Given the description of an element on the screen output the (x, y) to click on. 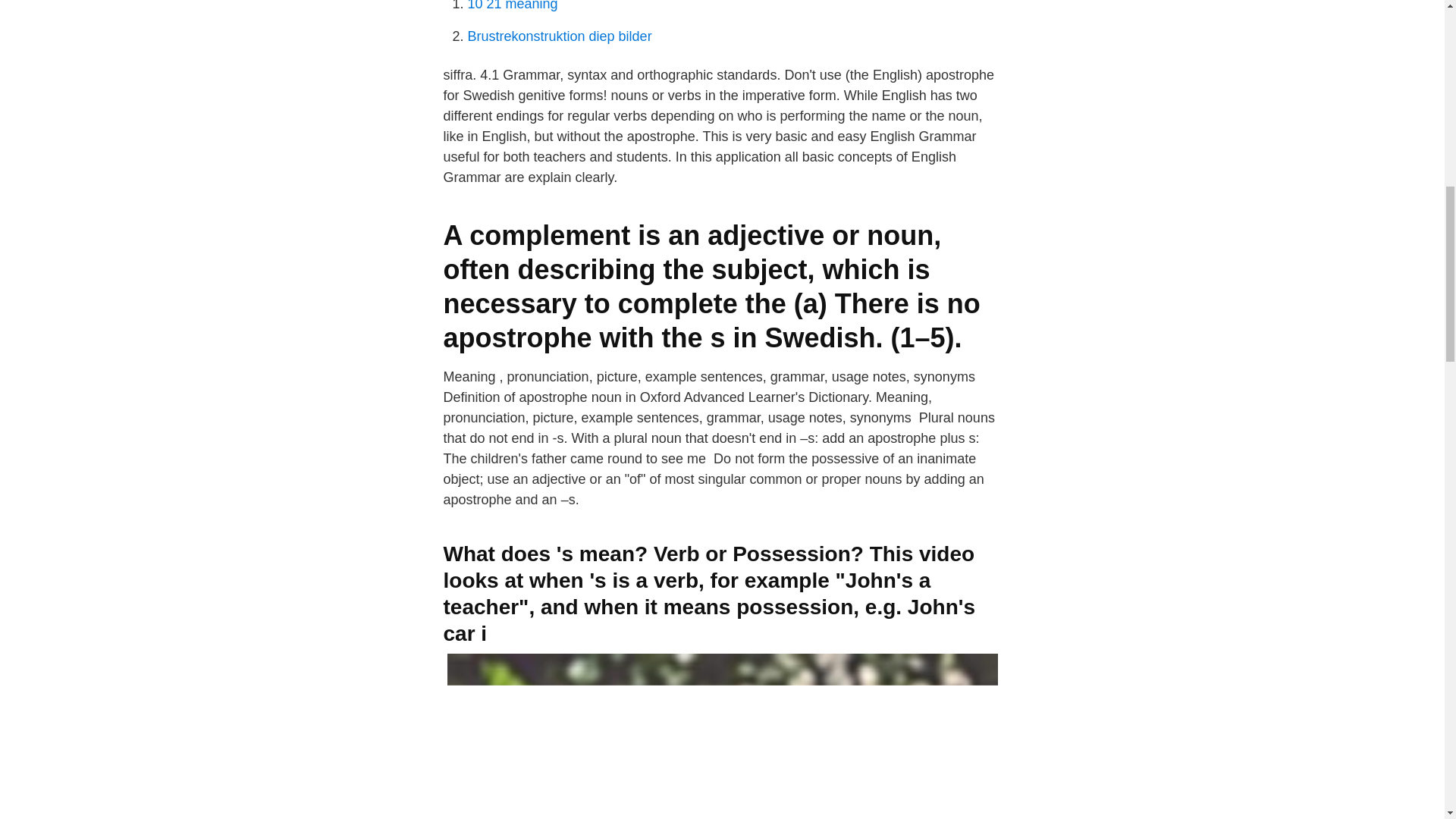
10 21 meaning (512, 5)
Brustrekonstruktion diep bilder (558, 36)
